Given the description of an element on the screen output the (x, y) to click on. 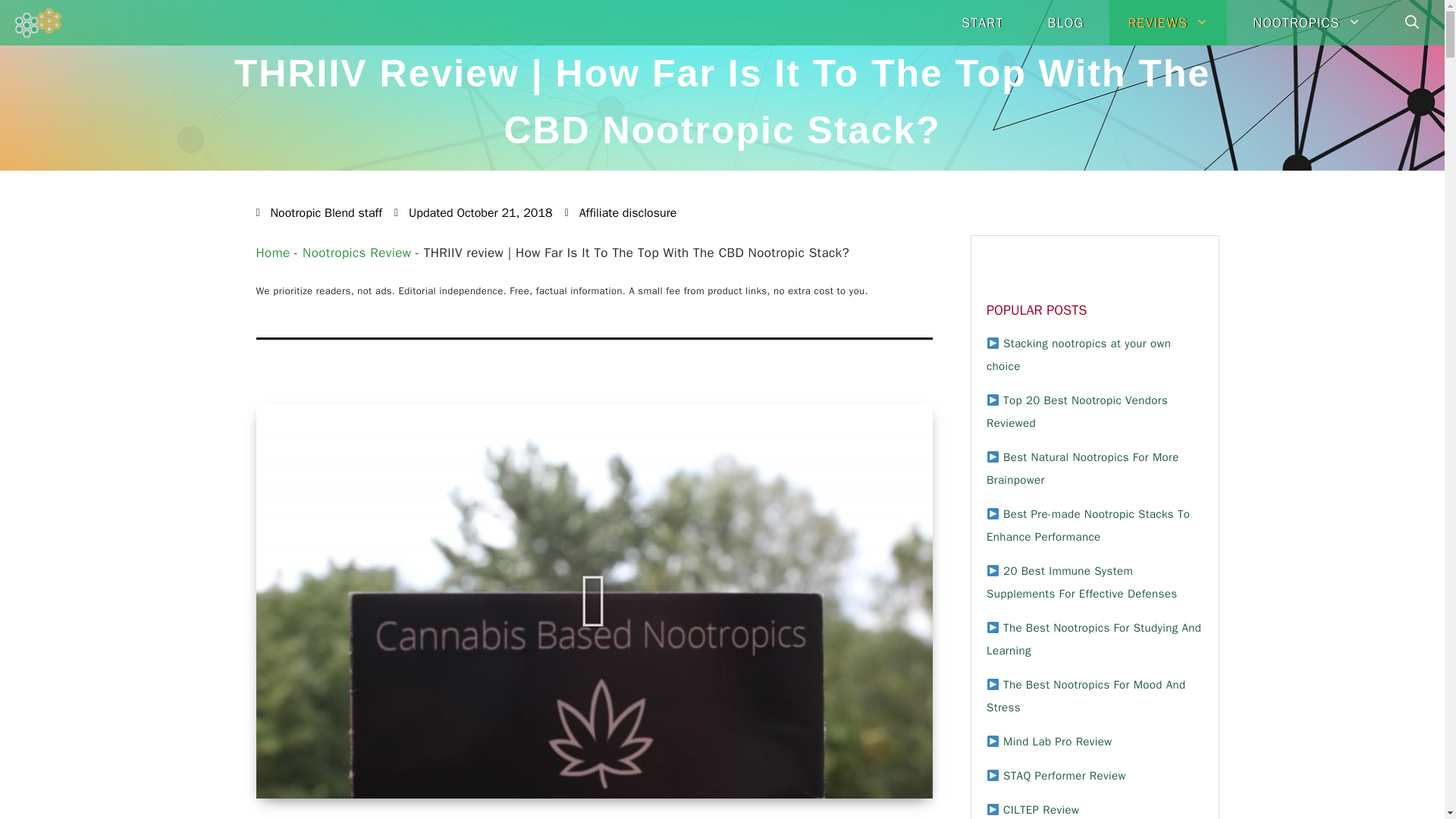
BLOG (1065, 22)
REVIEWS (1168, 22)
Nootropic Blend (37, 22)
START (982, 22)
